Given the description of an element on the screen output the (x, y) to click on. 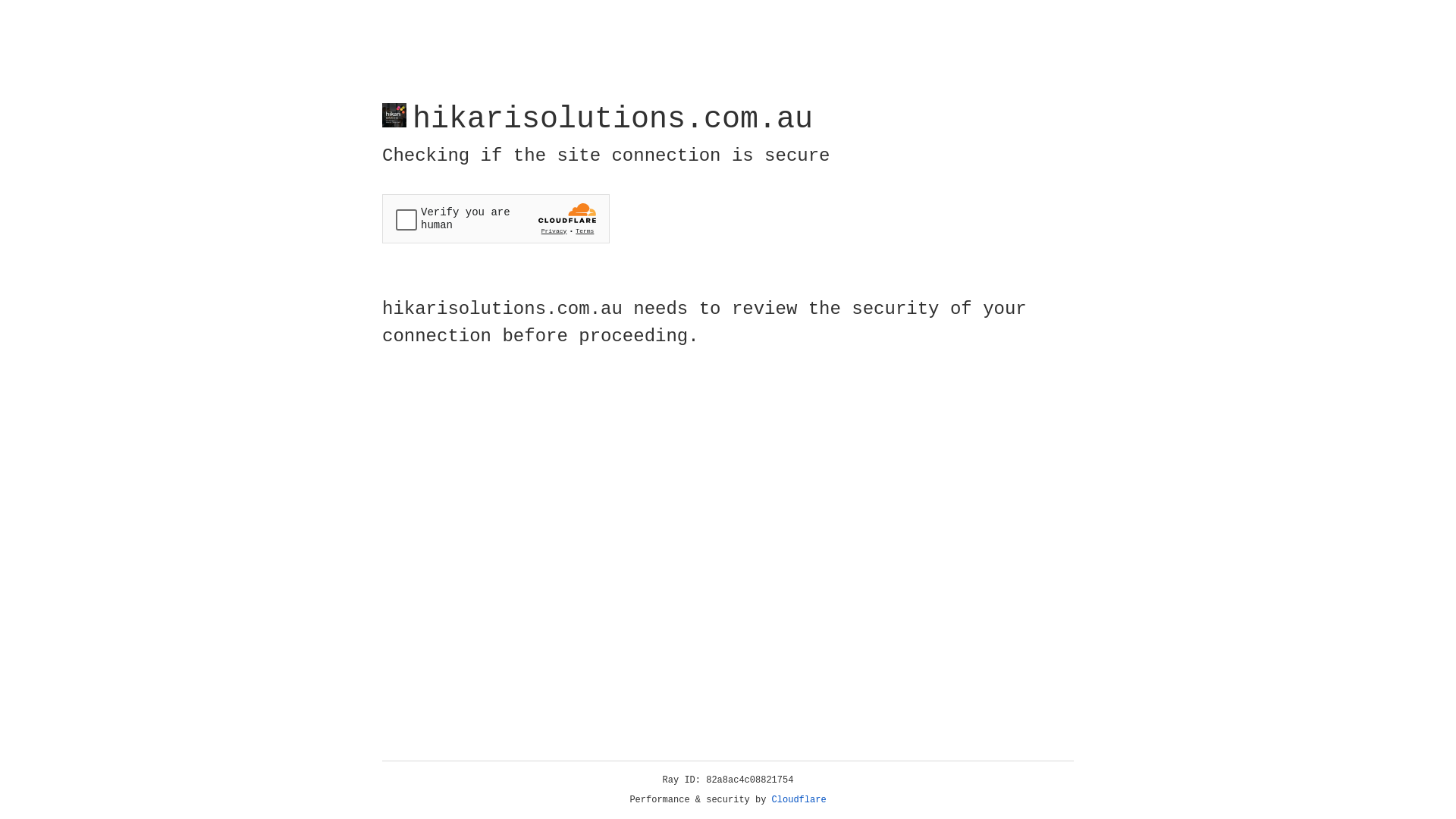
Widget containing a Cloudflare security challenge Element type: hover (495, 218)
Cloudflare Element type: text (798, 799)
